Given the description of an element on the screen output the (x, y) to click on. 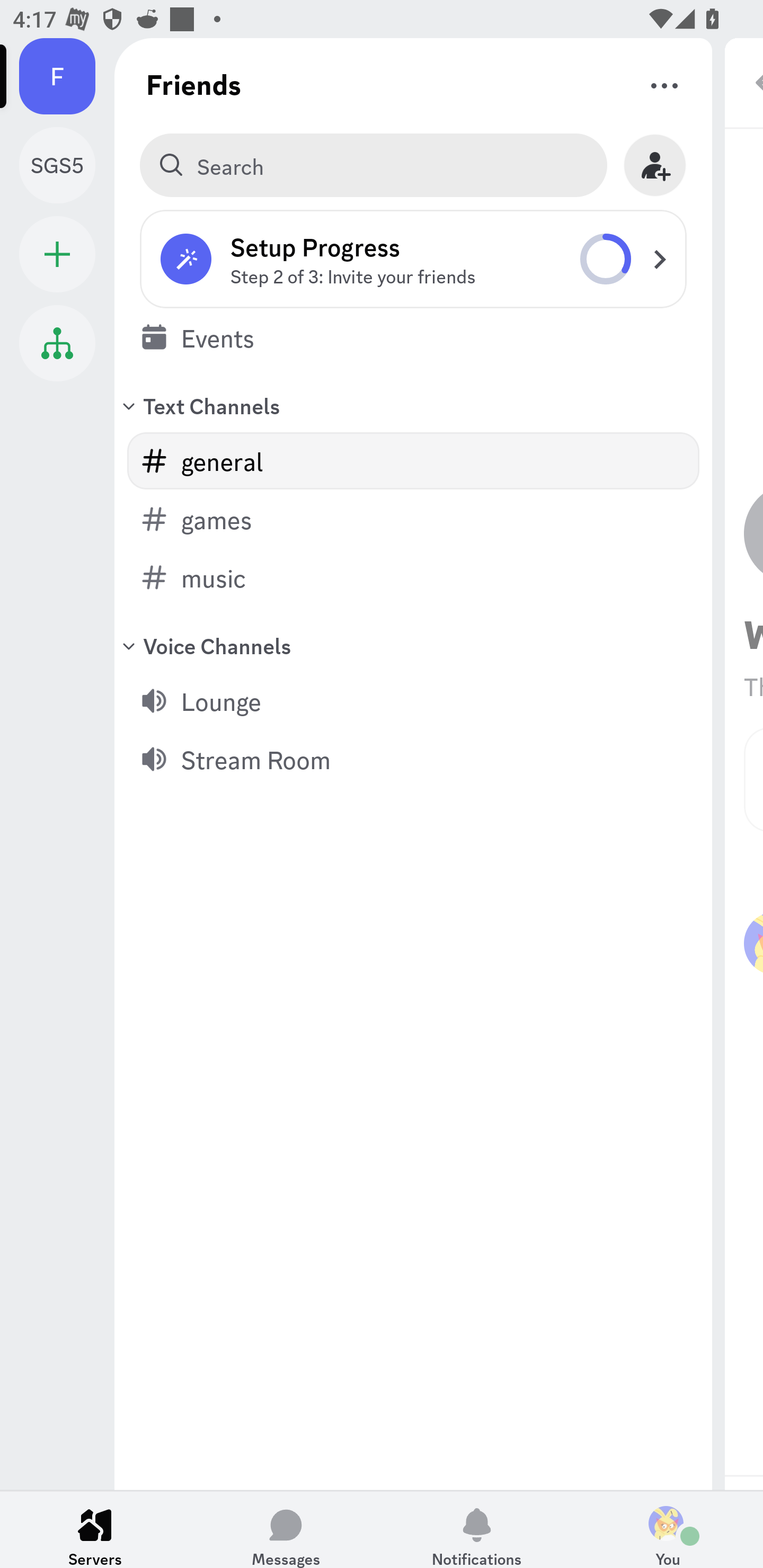
  Friends F (66, 75)
Friends (193, 83)
  Study Group Sunday 5PM SGS5 (66, 165)
Search (373, 165)
Invite (654, 165)
Add a Server (57, 253)
Student Hub (57, 343)
Events (413, 336)
Text Channels (412, 404)
general (text channel) general (413, 460)
games (text channel) games (413, 518)
music (text channel) music (413, 576)
Voice Channels (412, 644)
Lounge (voice channel), 0 users Lounge (413, 700)
Stream Room (voice channel), 0 users Stream Room (413, 758)
Servers (95, 1529)
Messages (285, 1529)
Notifications (476, 1529)
You (667, 1529)
